Given the description of an element on the screen output the (x, y) to click on. 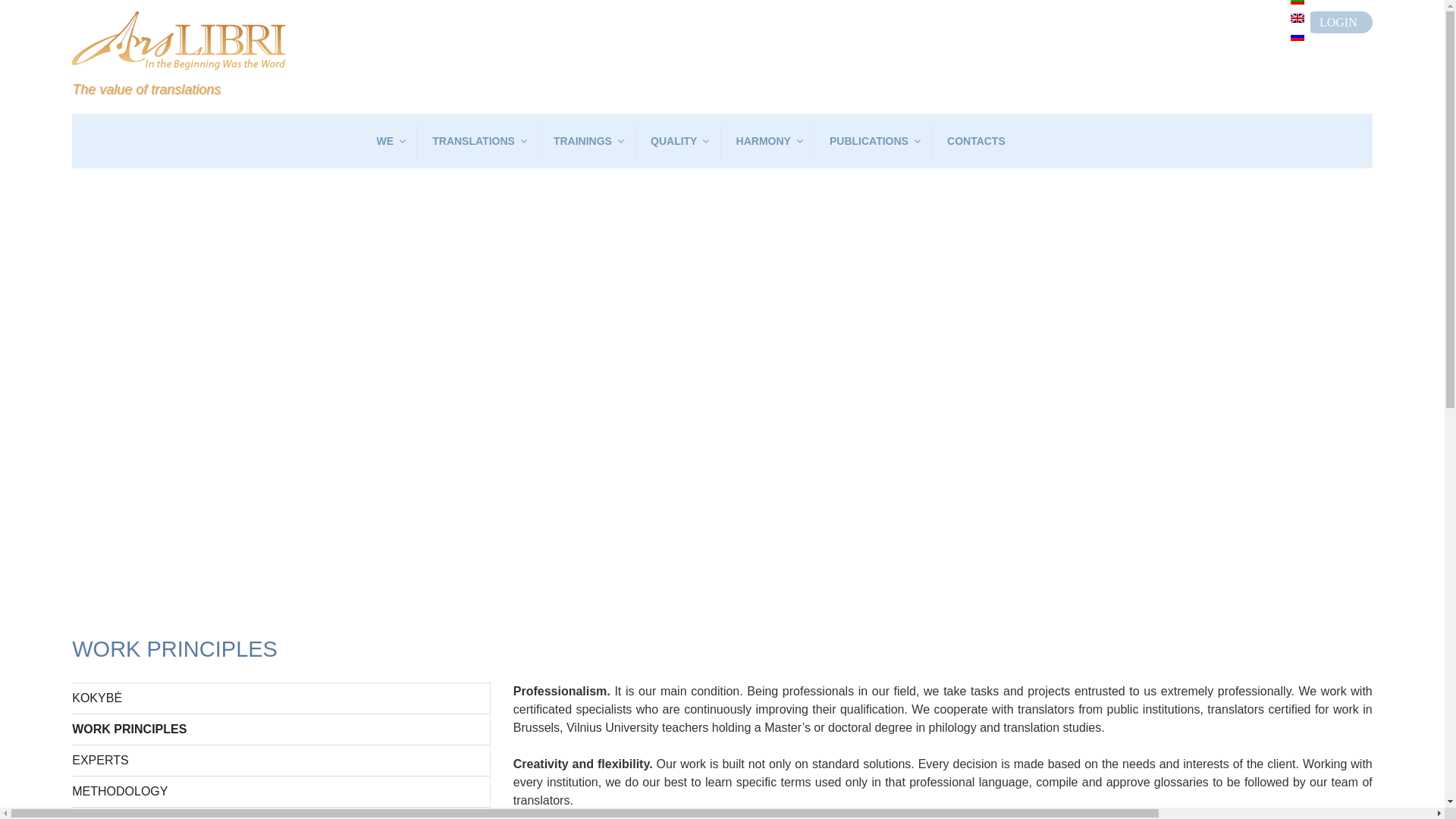
English (1297, 17)
Lietuvos (1297, 2)
QUALITY (679, 140)
WE (390, 140)
HARMONY (768, 140)
LOGIN (1338, 22)
TRAININGS (587, 140)
TRANSLATIONS (478, 140)
